Given the description of an element on the screen output the (x, y) to click on. 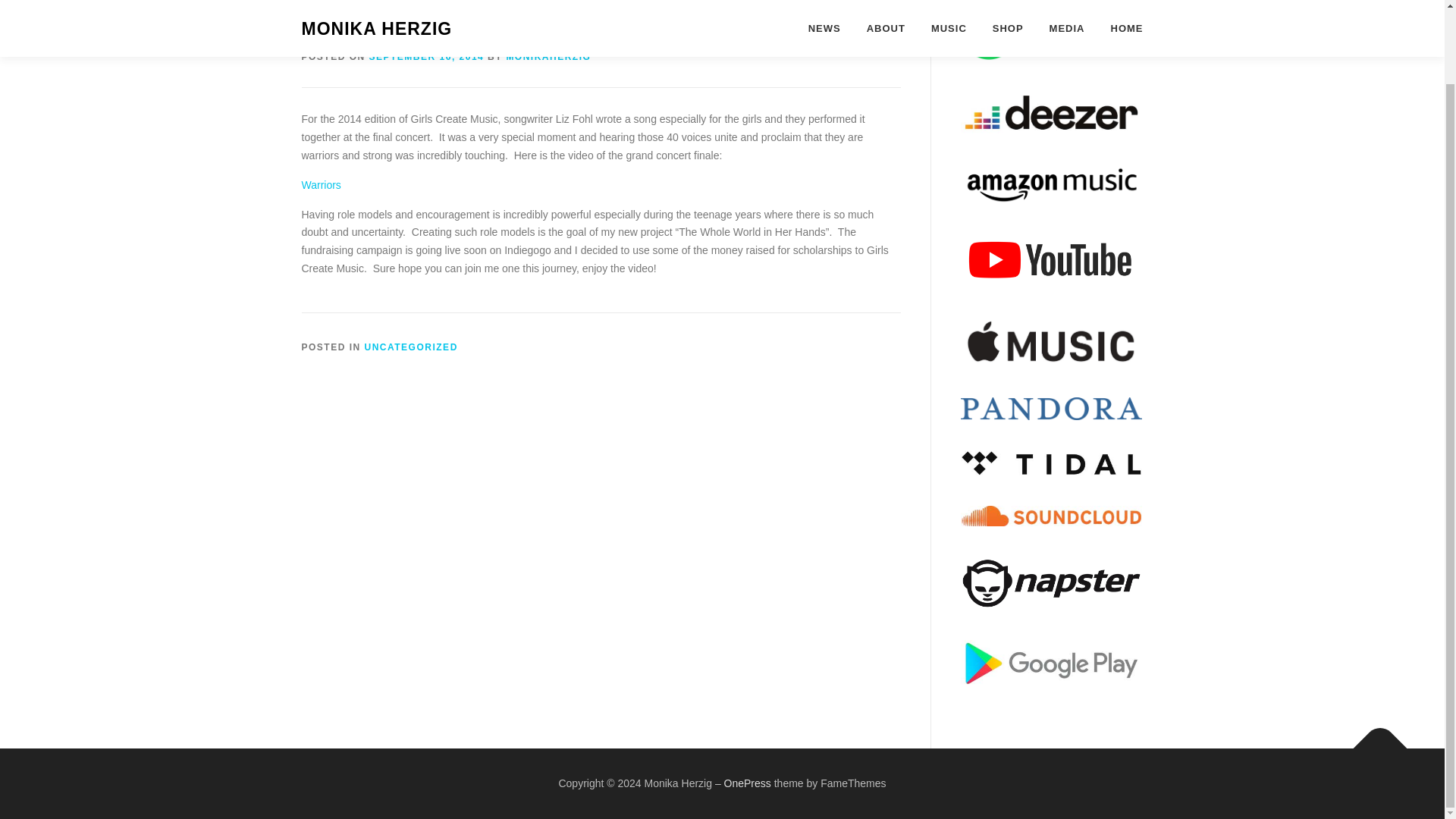
SEPTEMBER 16, 2014 (426, 56)
MONIKAHERZIG (548, 56)
UNCATEGORIZED (411, 347)
OnePress (747, 783)
Back To Top (1372, 740)
Warriors (320, 184)
